Given the description of an element on the screen output the (x, y) to click on. 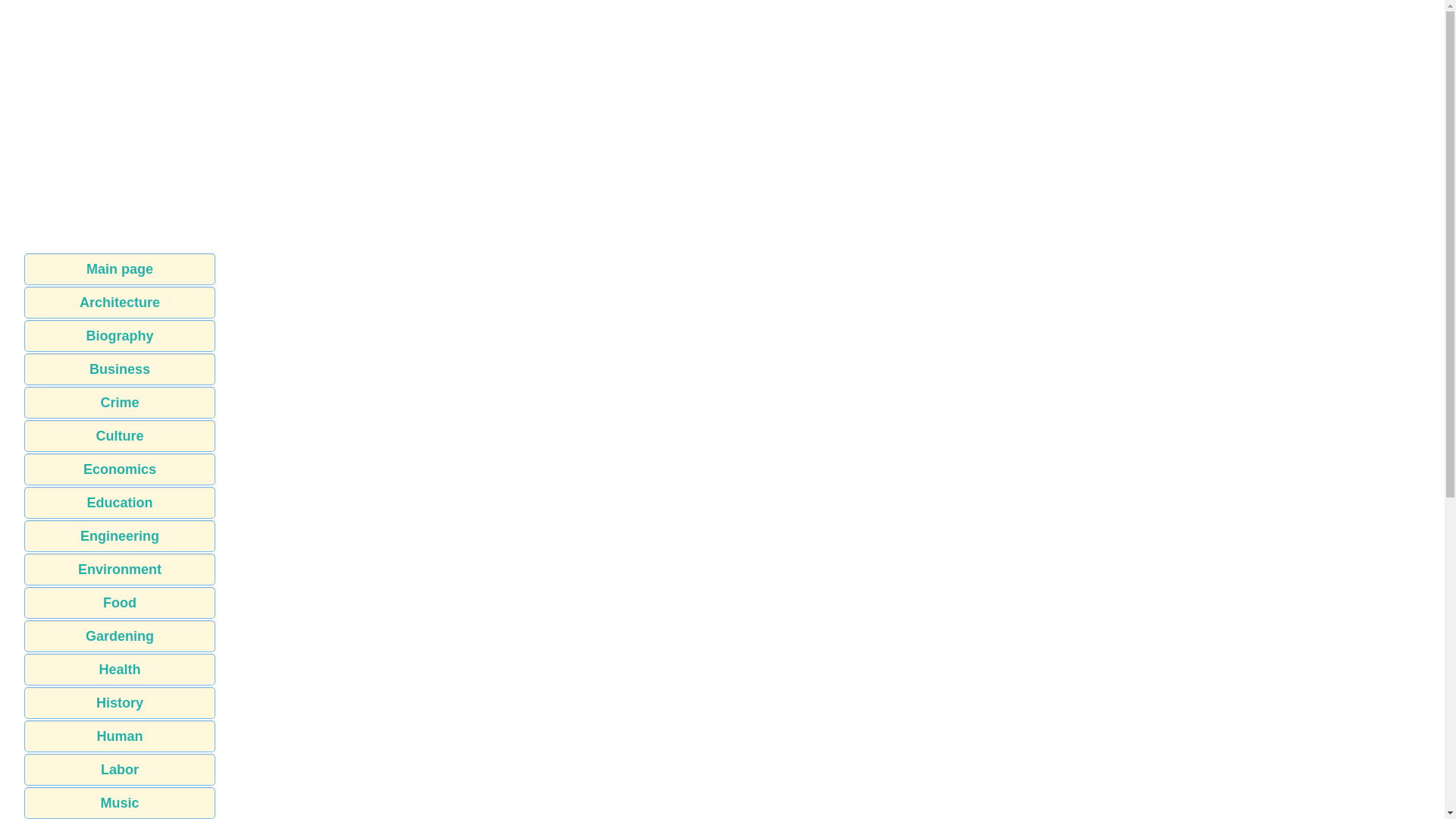
History (119, 703)
Main page (119, 269)
Labor (119, 769)
Human (119, 736)
Economics (119, 469)
Education (119, 502)
Food (119, 603)
Engineering (119, 536)
Health (119, 669)
Biography (119, 336)
Architecture (119, 302)
Environment (119, 569)
Business (119, 368)
Music (119, 803)
Gardening (119, 635)
